Given the description of an element on the screen output the (x, y) to click on. 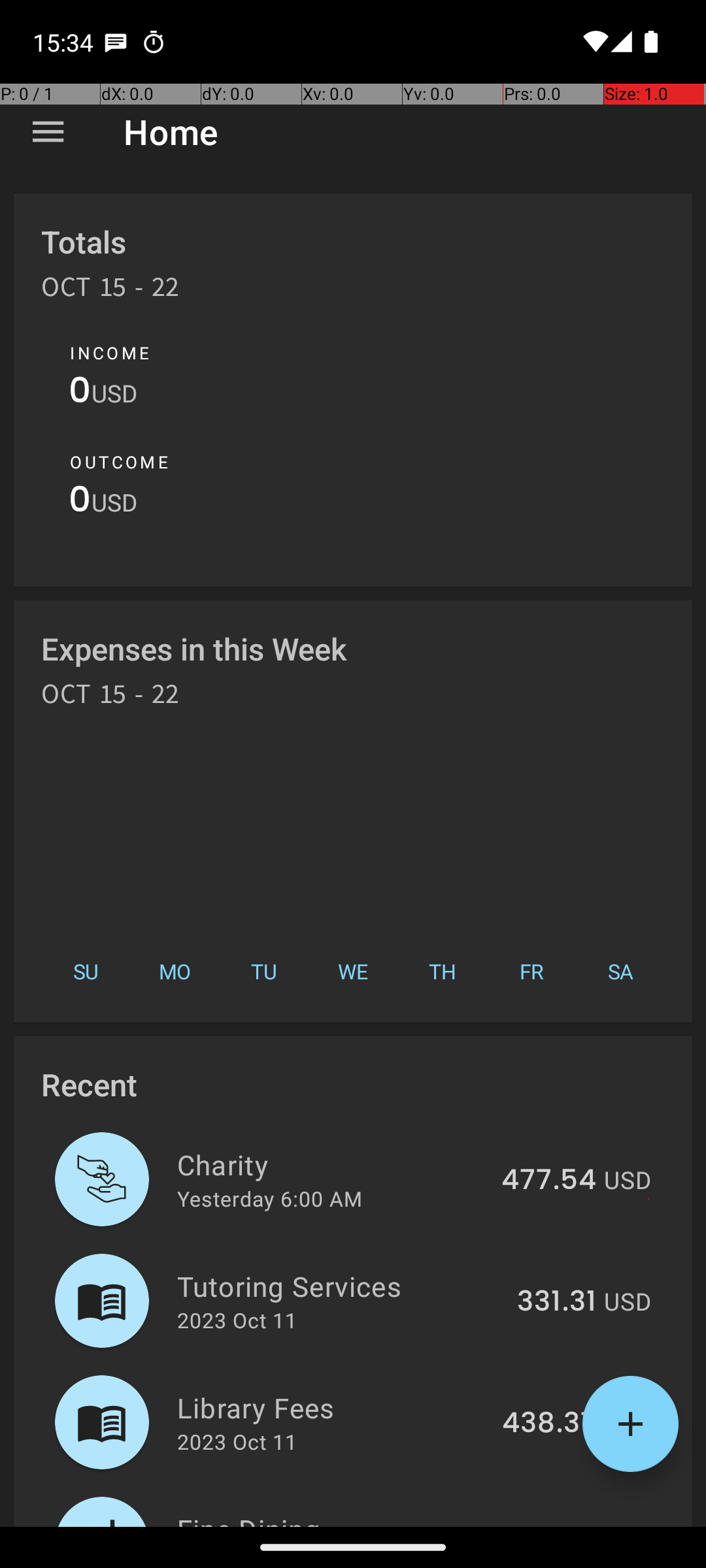
Charity Element type: android.widget.TextView (331, 1164)
Yesterday 6:00 AM Element type: android.widget.TextView (269, 1198)
477.54 Element type: android.widget.TextView (548, 1180)
Tutoring Services Element type: android.widget.TextView (339, 1285)
331.31 Element type: android.widget.TextView (556, 1301)
438.37 Element type: android.widget.TextView (548, 1423)
60.96 Element type: android.widget.TextView (555, 1524)
SMS Messenger notification: Emily Ibrahim Element type: android.widget.ImageView (115, 41)
